Given the description of an element on the screen output the (x, y) to click on. 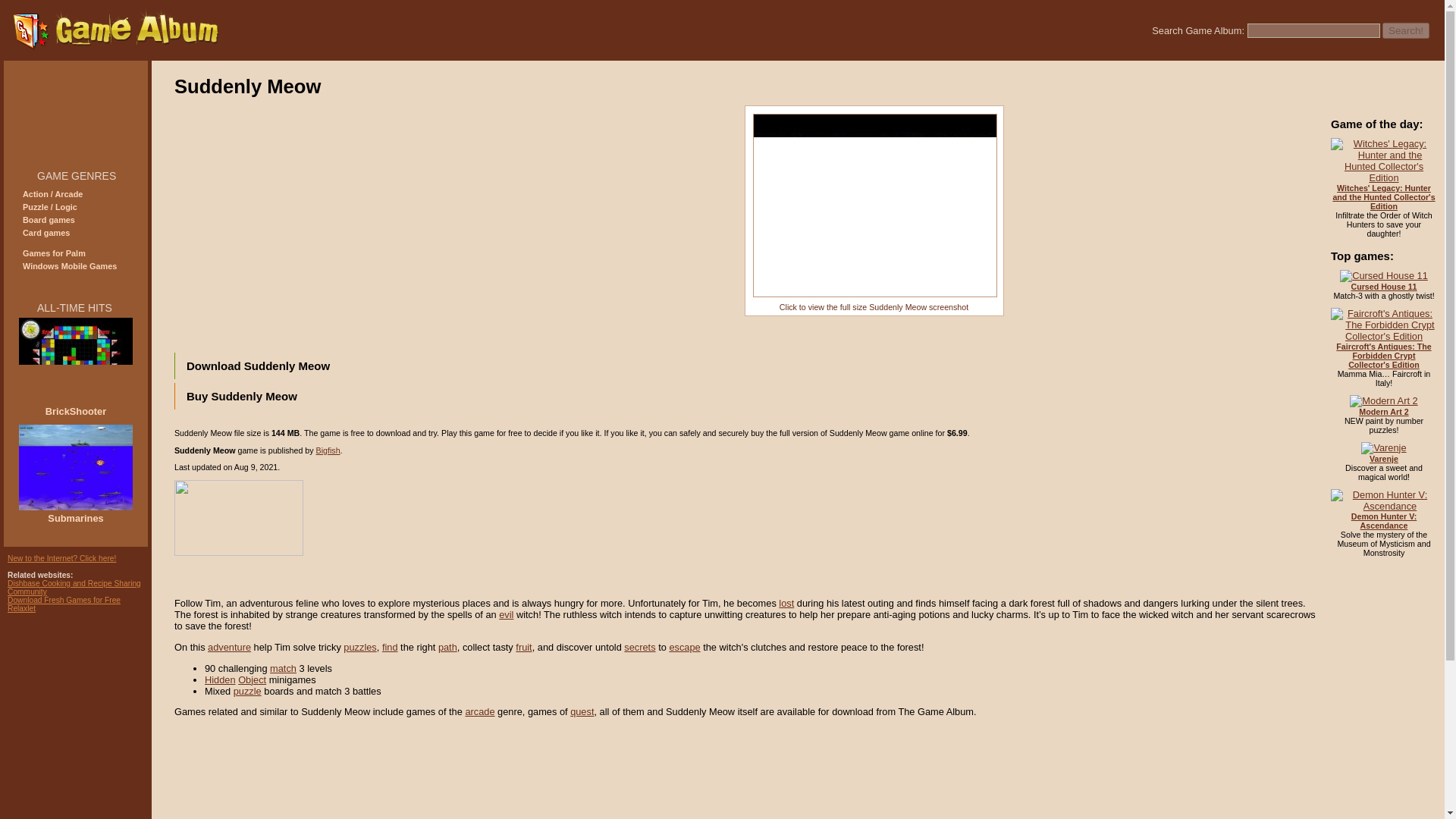
lost (785, 603)
Relaxlet (20, 608)
Cursed House 11 (1383, 286)
Games for Palm (54, 252)
Search! (1405, 30)
Demon Hunter V: Ascendance (1383, 520)
Windows Mobile Games (69, 266)
Modern Art 2 (1382, 411)
evil (506, 614)
